Given the description of an element on the screen output the (x, y) to click on. 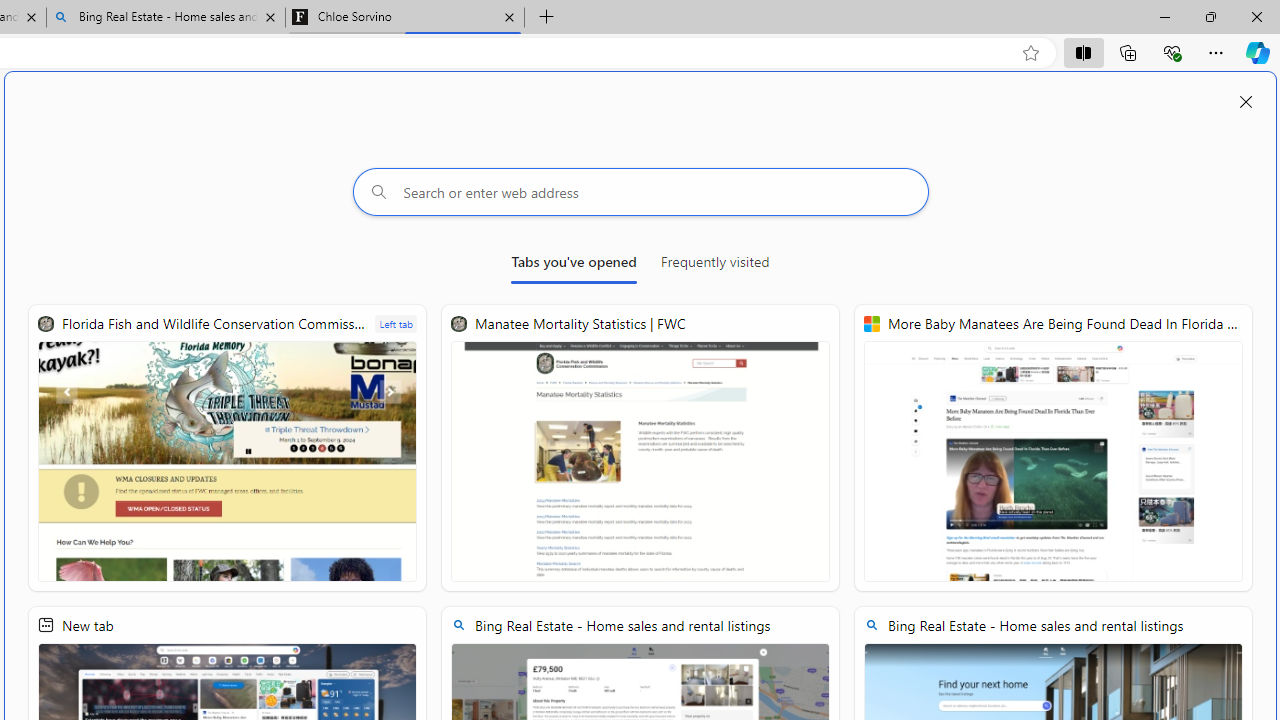
Bing Real Estate - Home sales and rental listings (166, 17)
Frequently visited (715, 265)
Search or enter web address (640, 191)
Florida Fish and Wildlife Conservation Commission | FWC (227, 448)
